Given the description of an element on the screen output the (x, y) to click on. 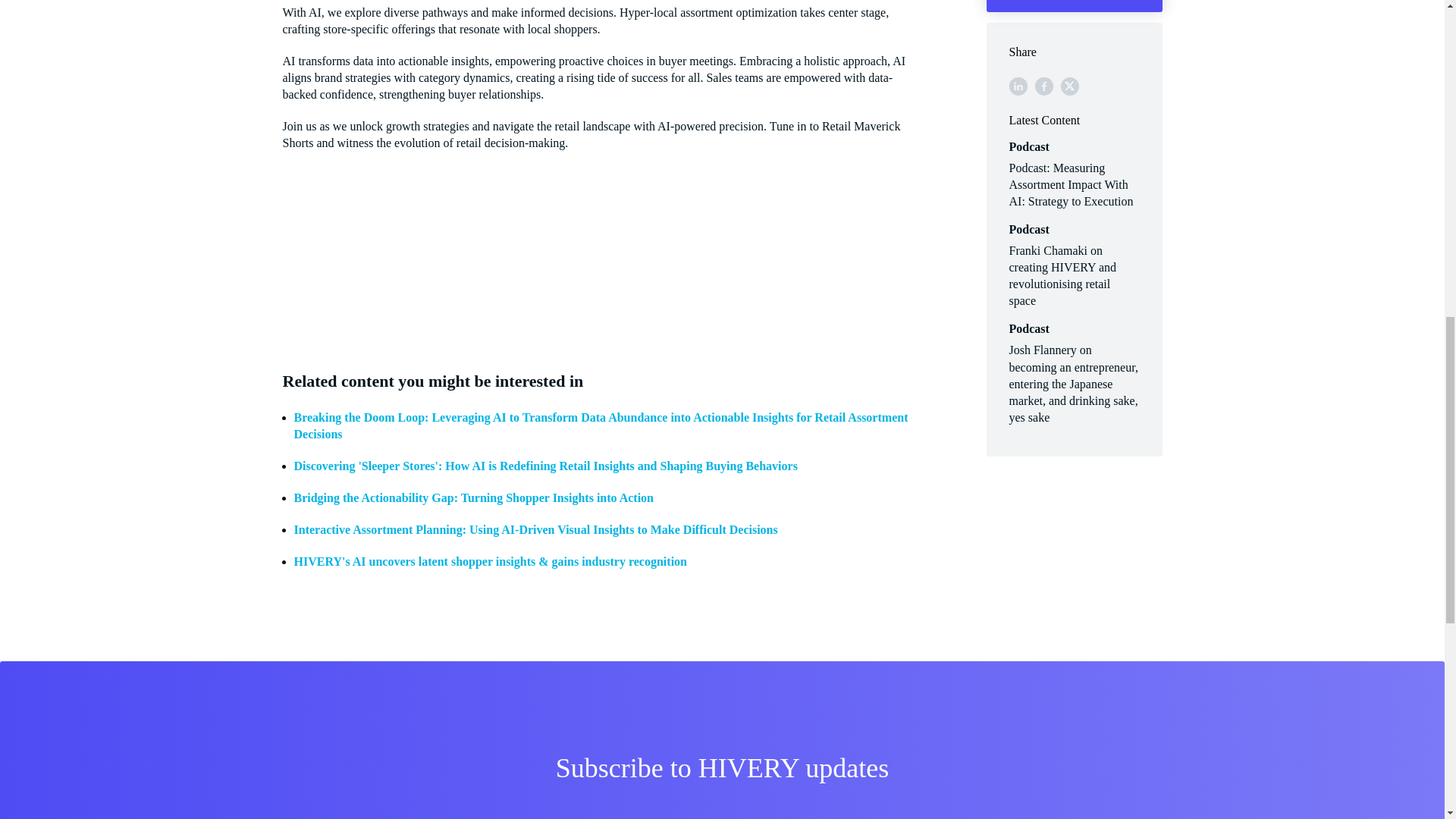
DOWNLOAD SUMMARY (1073, 6)
